Given the description of an element on the screen output the (x, y) to click on. 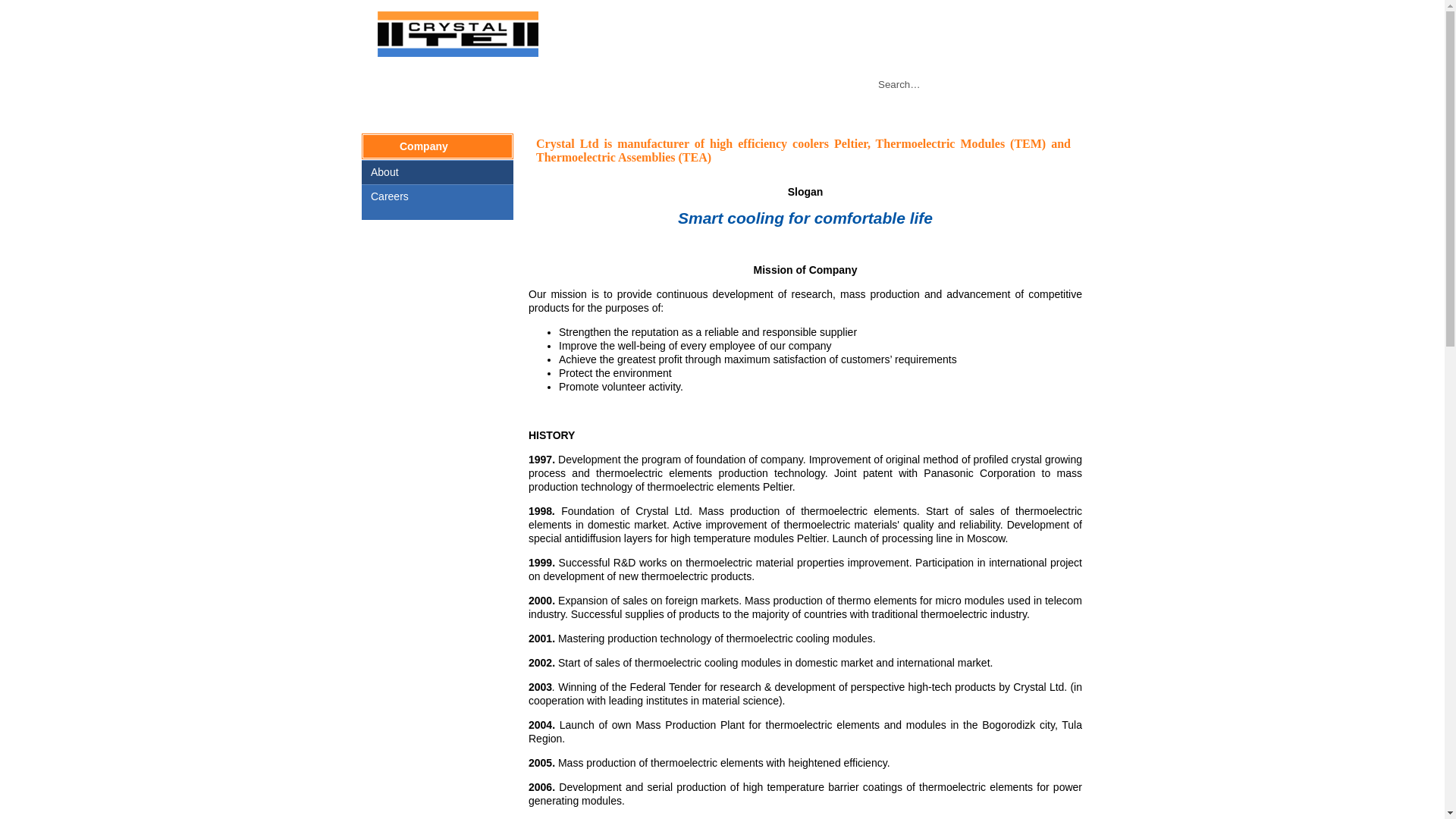
Company (552, 108)
Products (475, 108)
ENG (1061, 27)
Information (635, 108)
Home (406, 108)
Crystal Ltd. (457, 33)
Crystal Ltd. (457, 51)
